Given the description of an element on the screen output the (x, y) to click on. 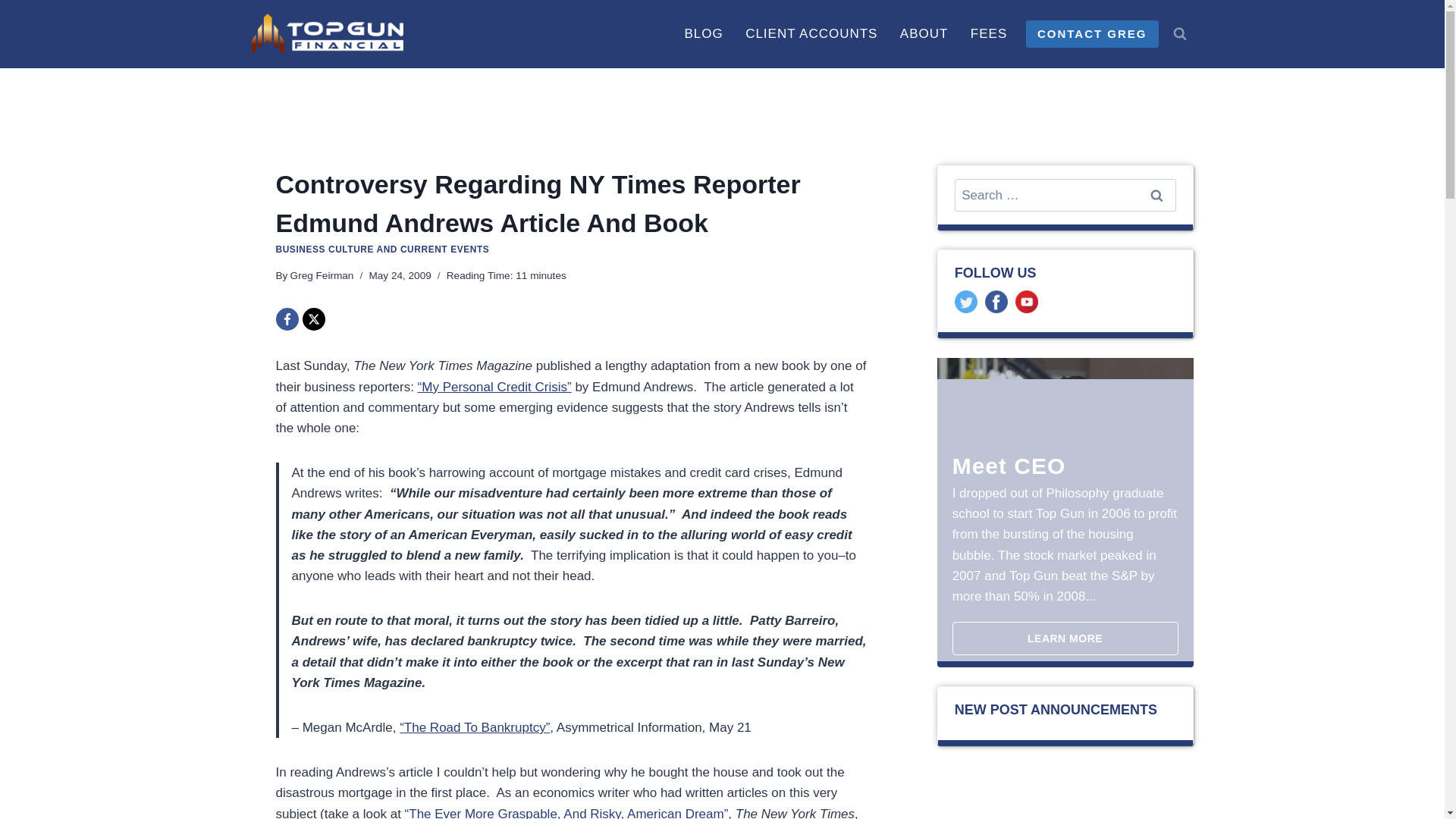
Greg Feirman (321, 275)
Search (1155, 195)
FEES (988, 33)
ABOUT (923, 33)
BLOG (703, 33)
Search (1155, 195)
BUSINESS CULTURE AND CURRENT EVENTS (382, 249)
CONTACT GREG (1092, 33)
CLIENT ACCOUNTS (810, 33)
Search (1155, 195)
LEARN MORE (1064, 638)
